Given the description of an element on the screen output the (x, y) to click on. 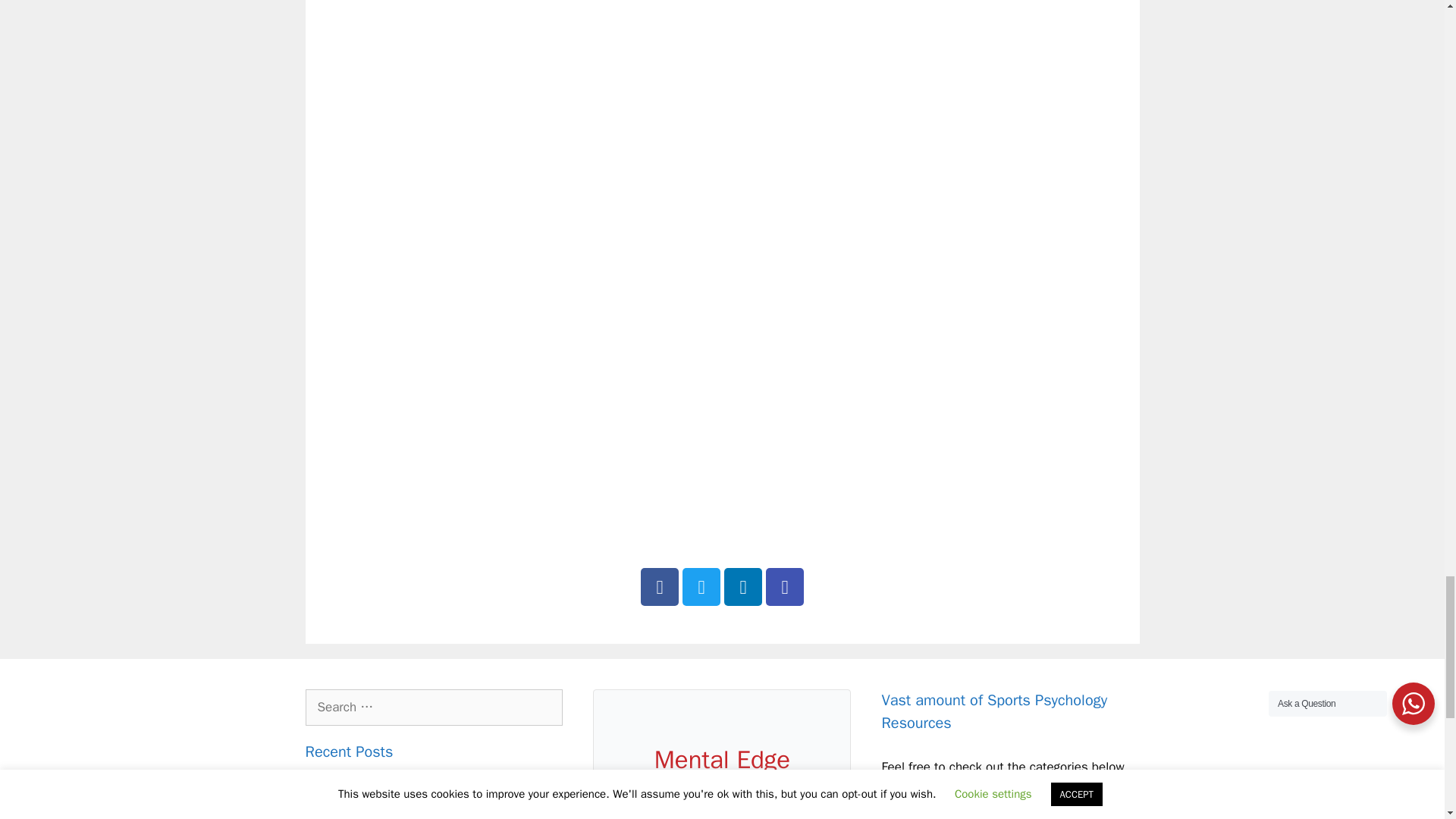
Search for: (433, 707)
